Given the description of an element on the screen output the (x, y) to click on. 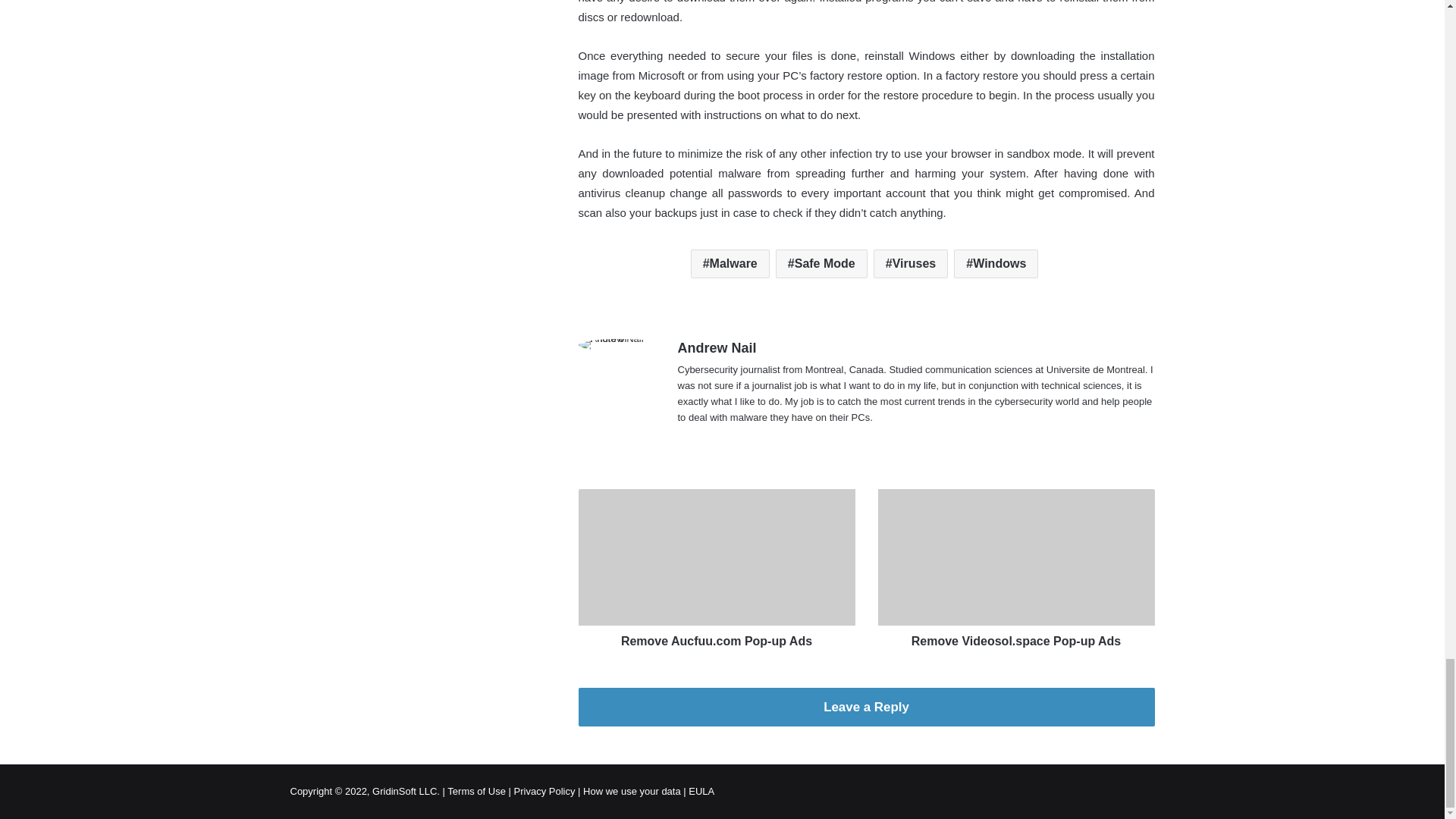
Remove Videosol.space Pop-up Ads (1015, 637)
Malware (730, 263)
Windows (995, 263)
Viruses (910, 263)
Terms of Use (475, 790)
Leave a Reply (866, 706)
Safe Mode (821, 263)
Andrew Nail (717, 347)
Remove Aucfuu.com Pop-up Ads (716, 637)
GridinSoft LLC (404, 790)
